Given the description of an element on the screen output the (x, y) to click on. 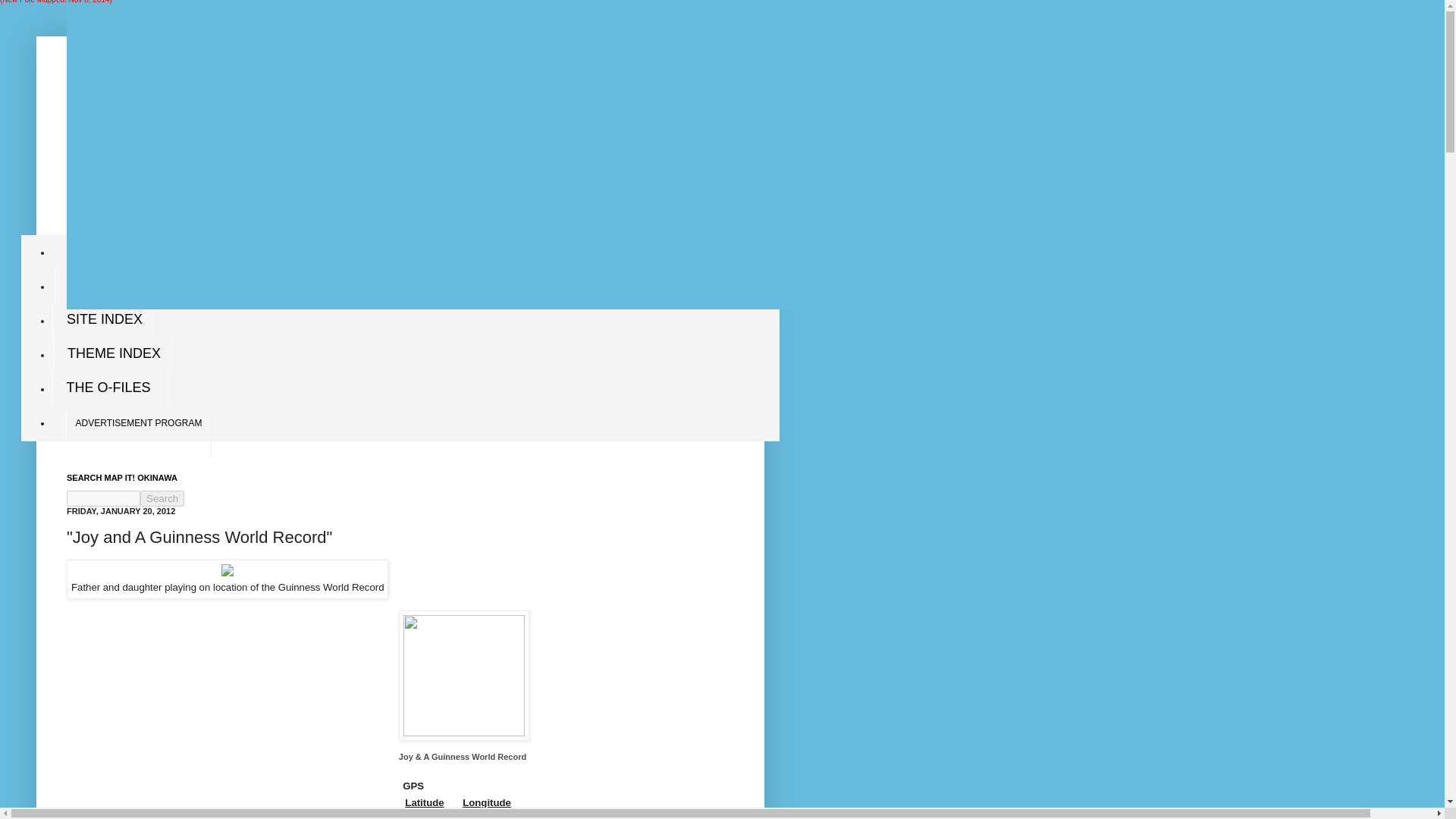
ADVERTISEMENT PROGRAM (138, 433)
Search (161, 498)
Map It! Okinawa (228, 118)
WELCOME (104, 286)
search (102, 498)
SITE INDEX (104, 319)
Search (161, 498)
THE O-FILES (107, 388)
Search (161, 498)
search (161, 498)
THEME INDEX (113, 354)
HOME (89, 251)
